Given the description of an element on the screen output the (x, y) to click on. 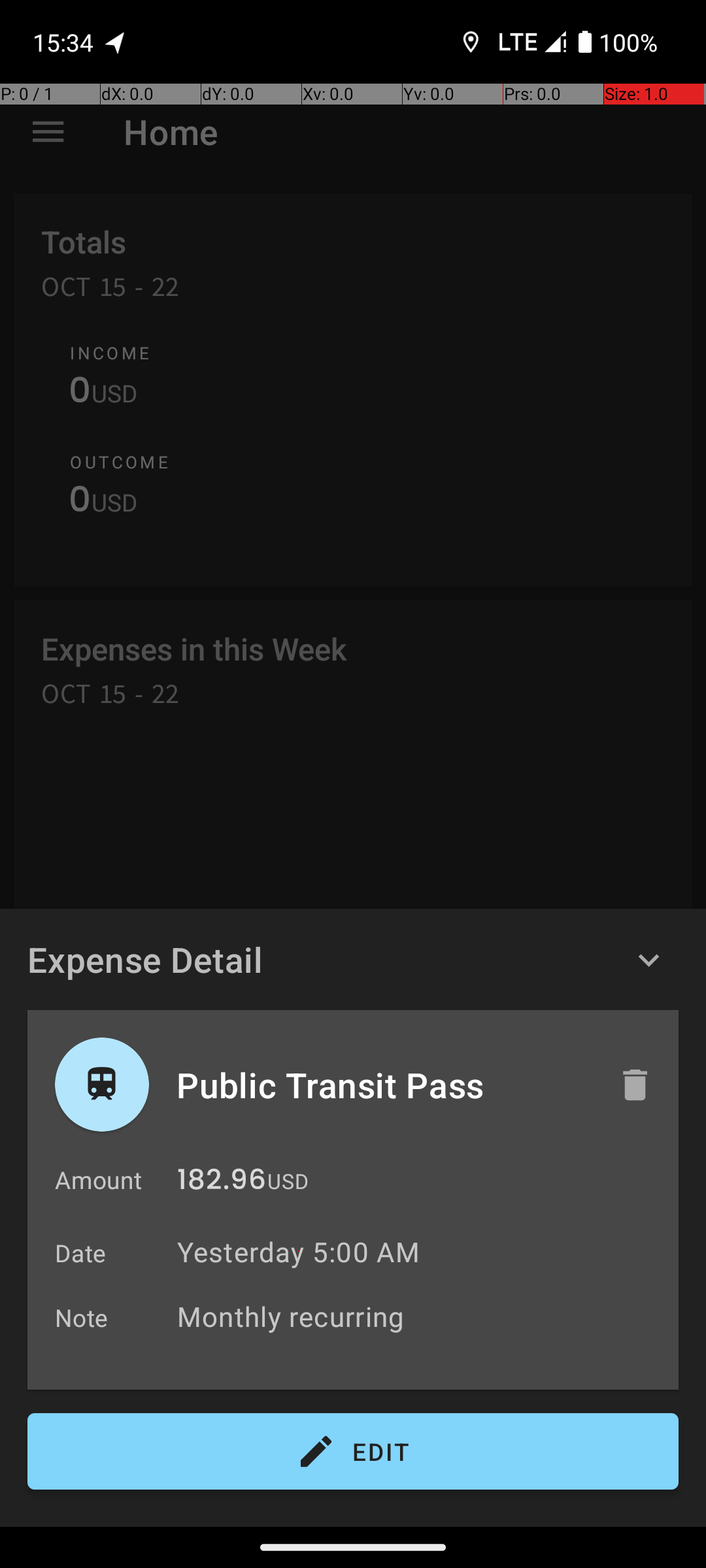
Public Transit Pass Element type: android.widget.TextView (383, 1084)
182.96 Element type: android.widget.TextView (221, 1182)
Yesterday 5:00 AM Element type: android.widget.TextView (298, 1251)
